Given the description of an element on the screen output the (x, y) to click on. 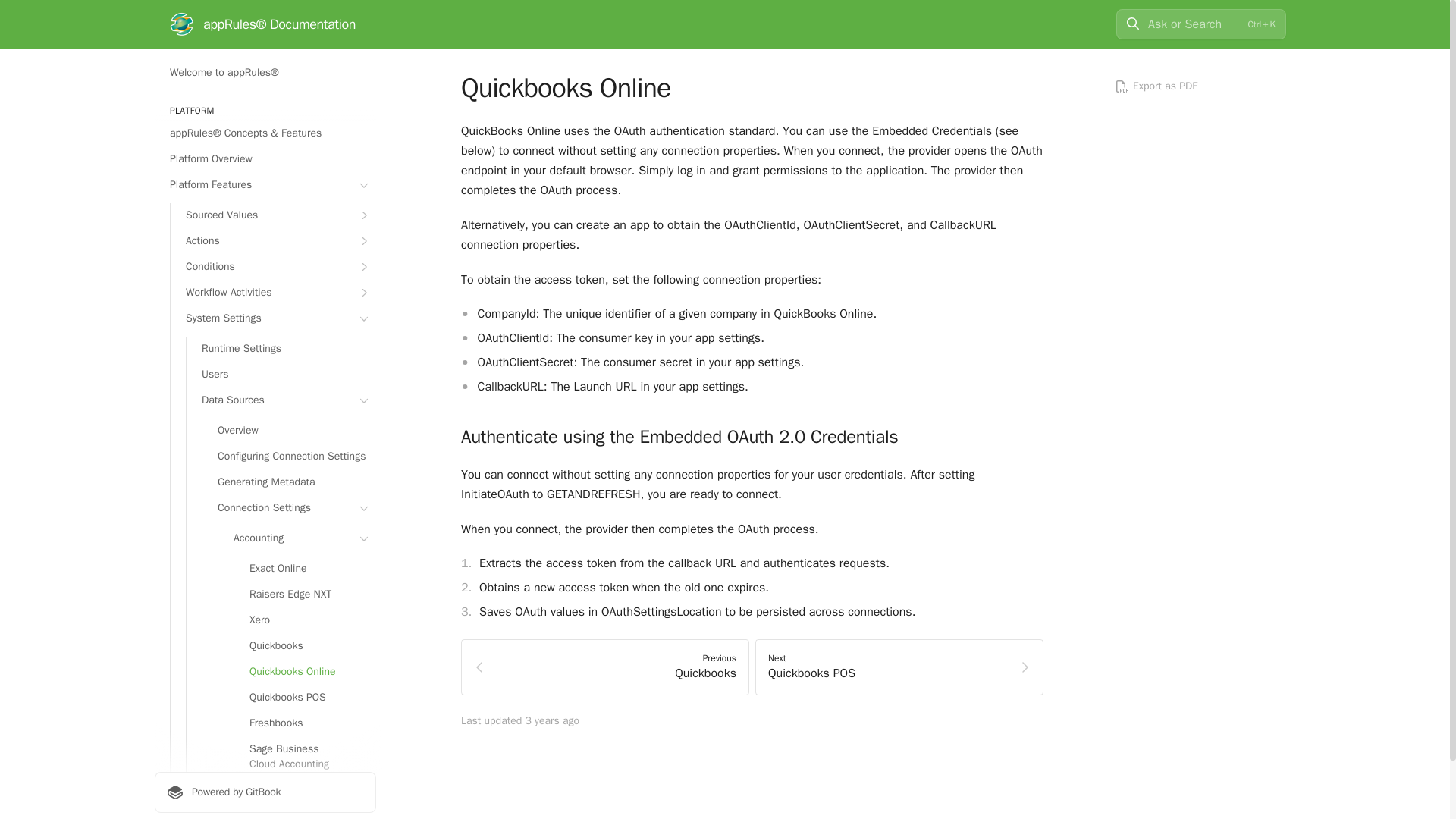
Sourced Values (272, 215)
Actions (272, 241)
Platform Overview (264, 159)
Platform Features (264, 184)
